Given the description of an element on the screen output the (x, y) to click on. 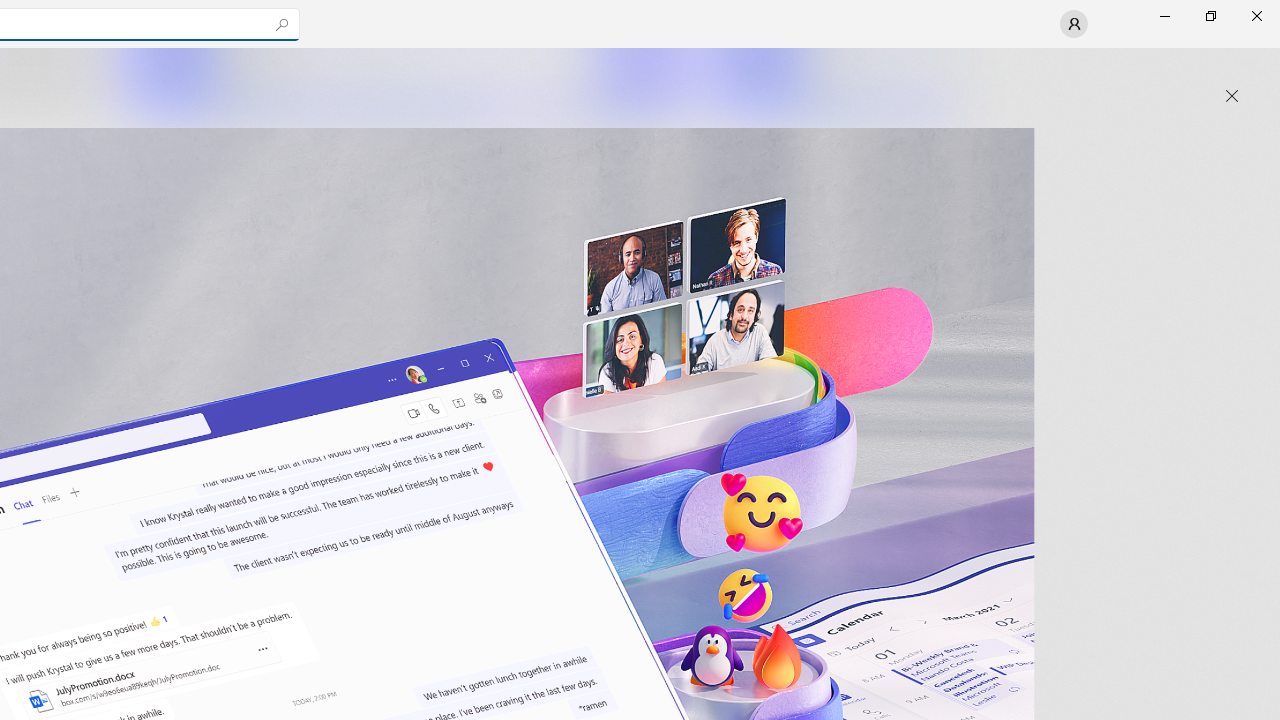
Screenshot 2 (406, 81)
close popup window (1232, 95)
Show all ratings and reviews (924, 495)
Screenshot 3 (833, 81)
